Given the description of an element on the screen output the (x, y) to click on. 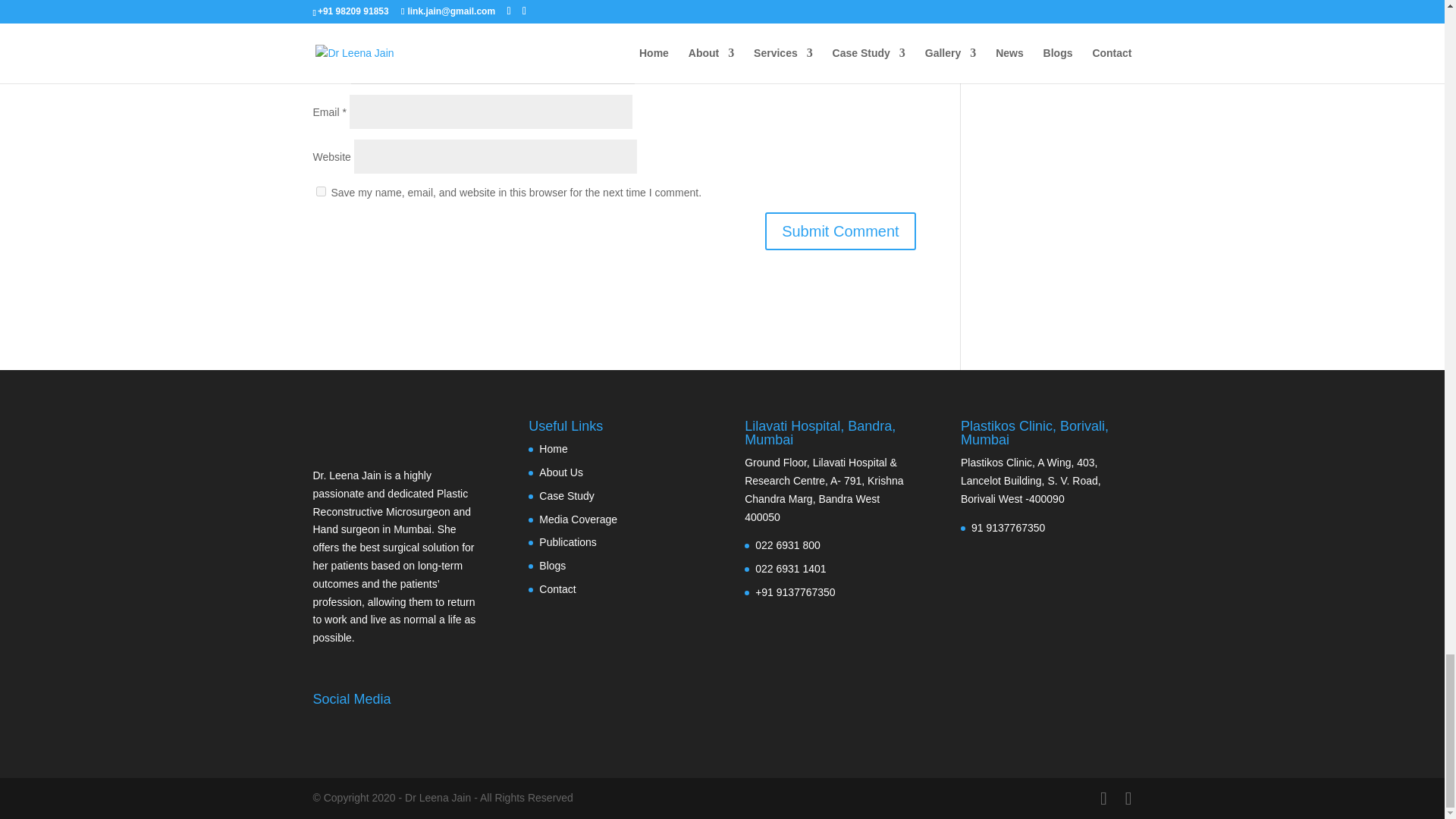
Submit Comment (840, 231)
yes (319, 191)
